Given the description of an element on the screen output the (x, y) to click on. 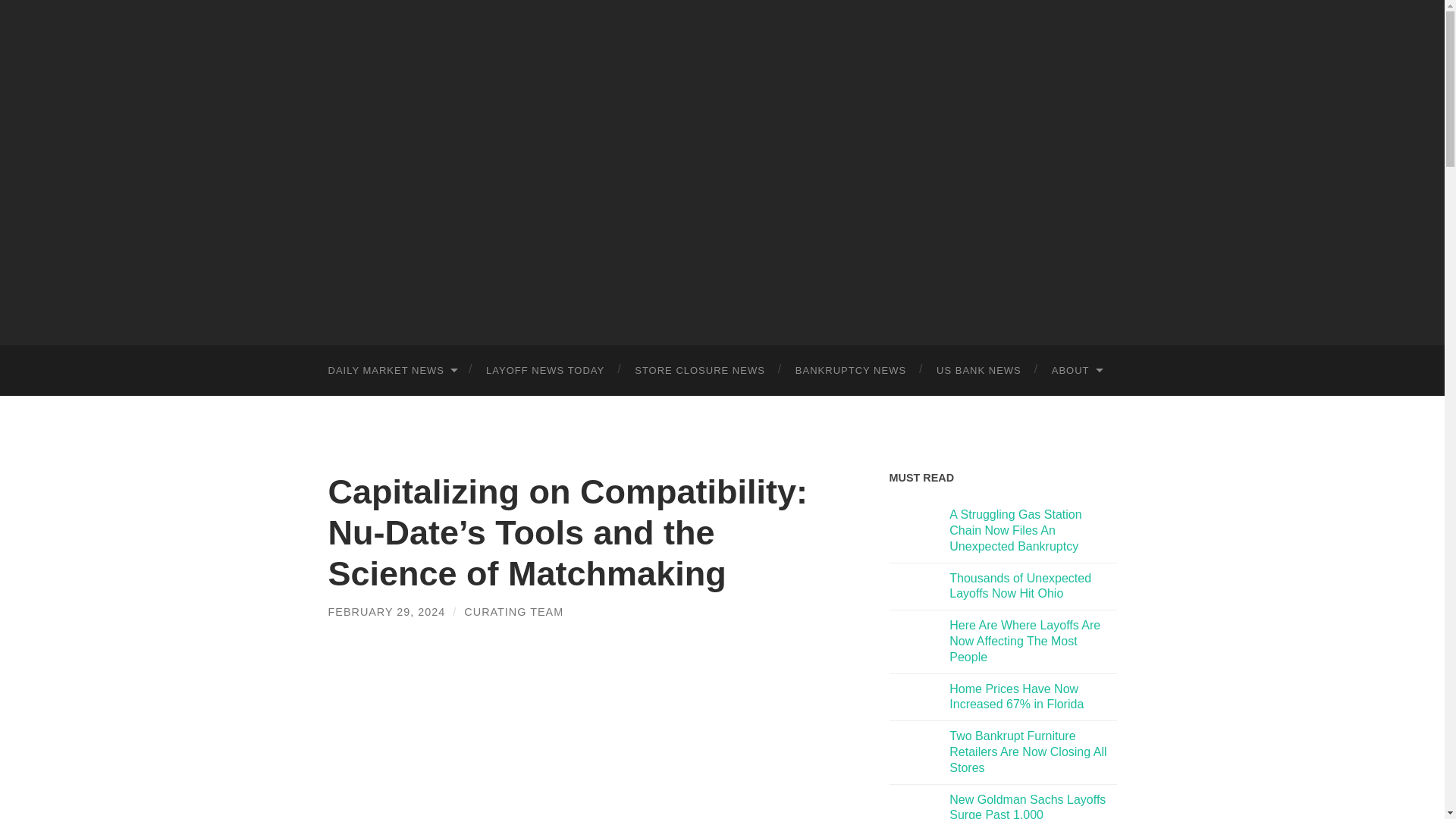
Two Bankrupt Furniture Retailers Are Now Closing All Stores (1027, 751)
Thousands of Unexpected Layoffs Now Hit Ohio (1019, 585)
US BANK NEWS (978, 369)
Two Bankrupt Furniture Retailers Are Now Closing All Stores (1027, 751)
New Goldman Sachs Layoffs Surge Past 1,000 (1027, 806)
Here Are Where Layoffs Are Now Affecting The Most People (1024, 641)
Franknez.com (722, 170)
BANKRUPTCY NEWS (850, 369)
